Given the description of an element on the screen output the (x, y) to click on. 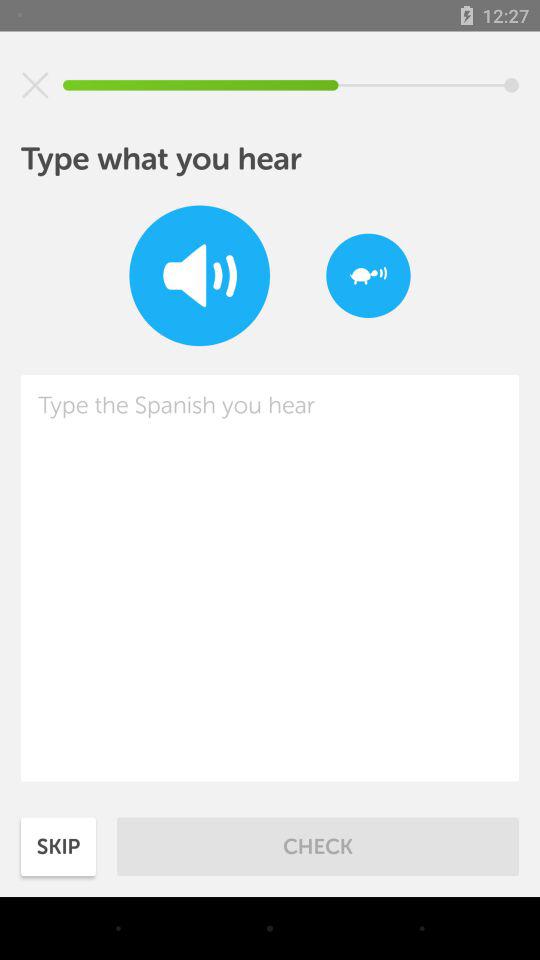
enable sound (199, 275)
